Given the description of an element on the screen output the (x, y) to click on. 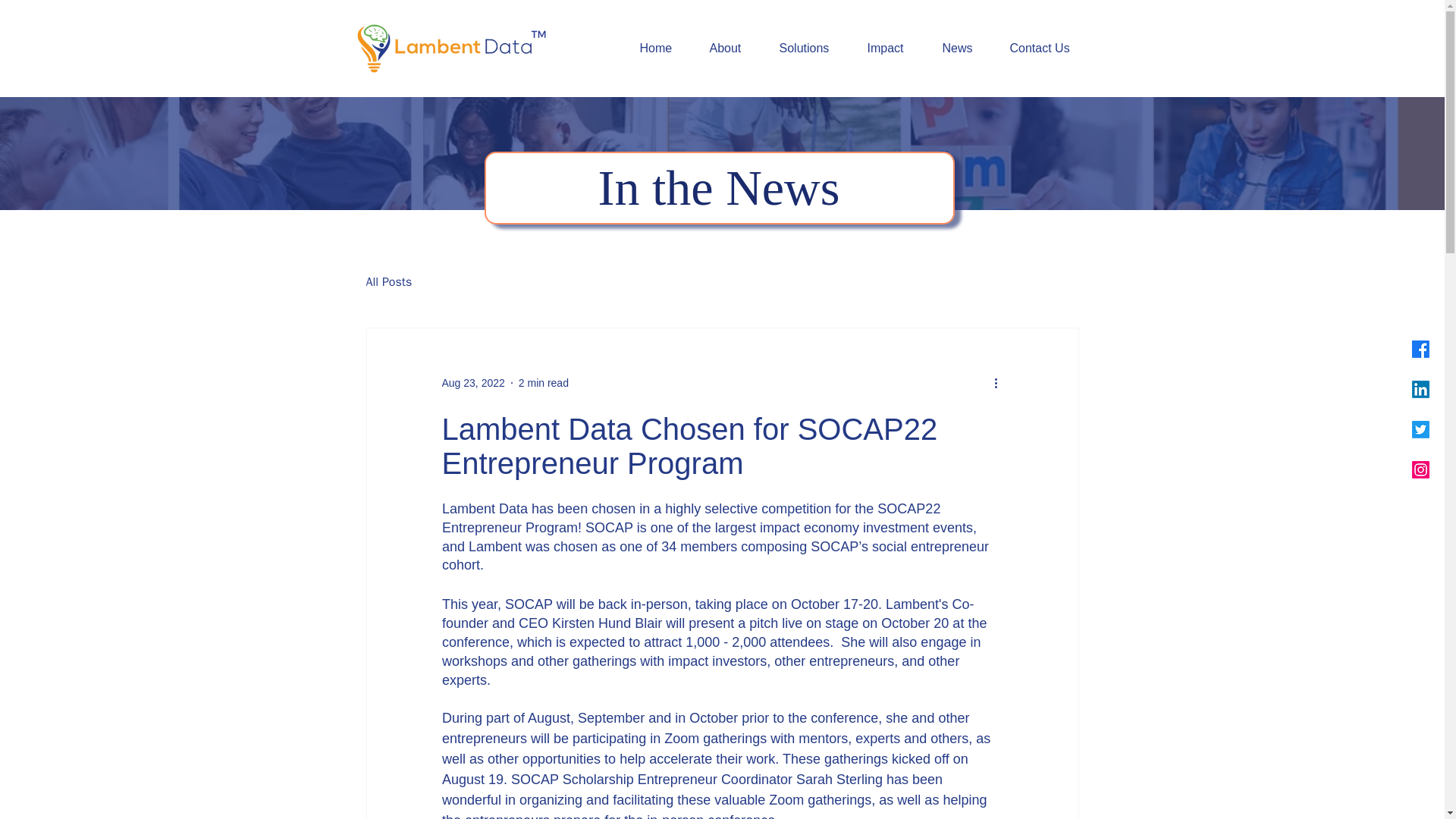
2 min read (543, 381)
Contact Us (1045, 48)
Home (662, 48)
Aug 23, 2022 (472, 381)
Solutions (811, 48)
News (964, 48)
Impact (893, 48)
All Posts (388, 282)
